Given the description of an element on the screen output the (x, y) to click on. 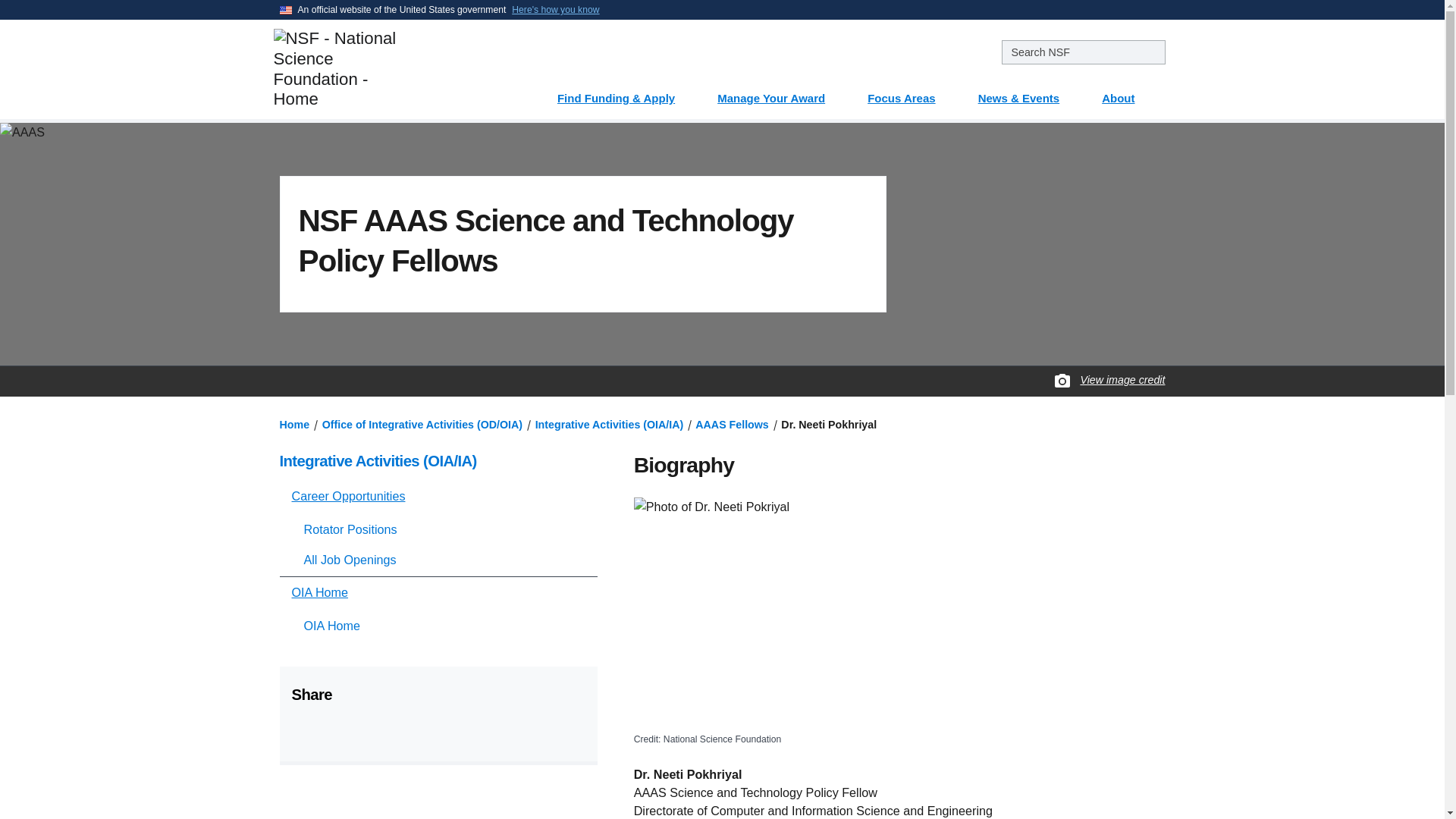
Rotator Positions (442, 529)
OIA Home (442, 625)
About (1126, 92)
Facebook (302, 729)
Email (416, 729)
NSF - National Science Foundation - Home (385, 68)
Here's how you know (555, 9)
search (1082, 52)
LinkedIn (378, 729)
View image credit (1122, 380)
Home (293, 424)
All Job Openings (442, 559)
Career Opportunities (437, 496)
Focus Areas (910, 92)
